Given the description of an element on the screen output the (x, y) to click on. 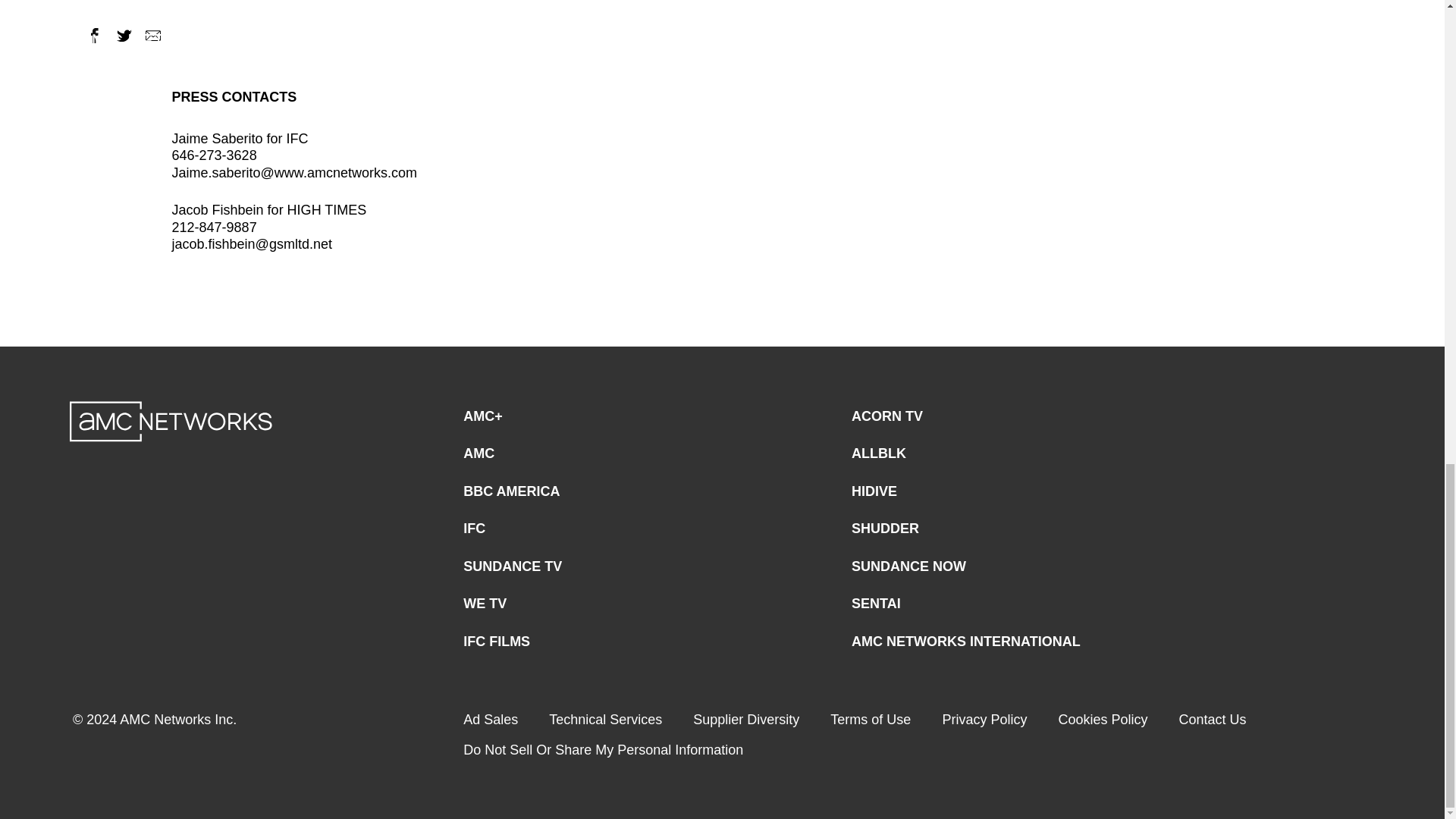
AMC Networks (170, 421)
AMC (479, 453)
